Given the description of an element on the screen output the (x, y) to click on. 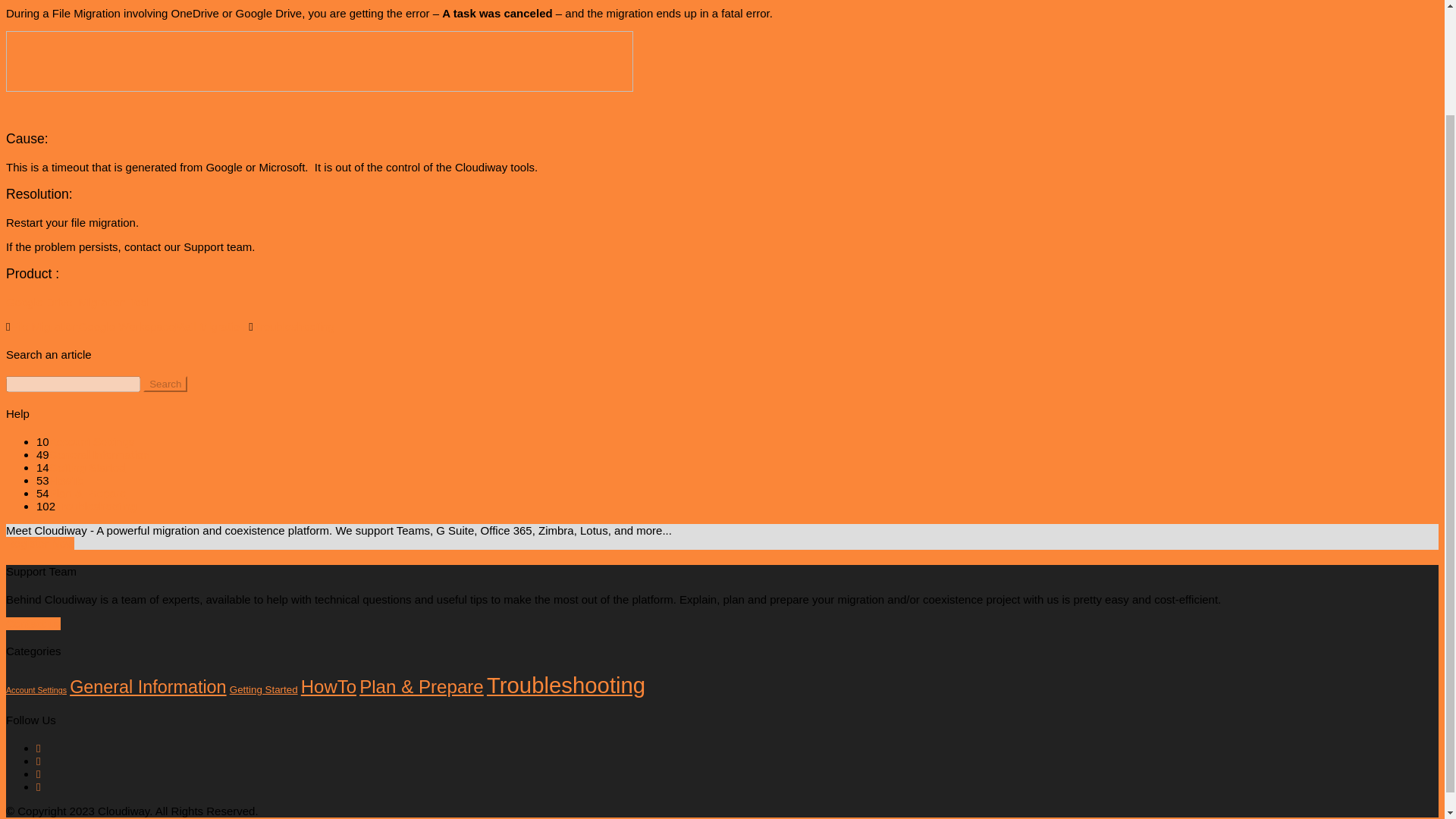
Getting Started (87, 467)
Google Workspace (126, 326)
Register Now (39, 543)
General Information (99, 454)
View all posts in General Information (99, 454)
Google Drive  Migration Tool (77, 301)
Troubleshooting (565, 684)
Troubleshooting (293, 326)
HowTo (328, 686)
Account Settings (35, 689)
View all posts in Account Settings (92, 440)
View all posts in Getting Started (87, 467)
General Information (147, 686)
Account Settings (92, 440)
HowTo (66, 480)
